Given the description of an element on the screen output the (x, y) to click on. 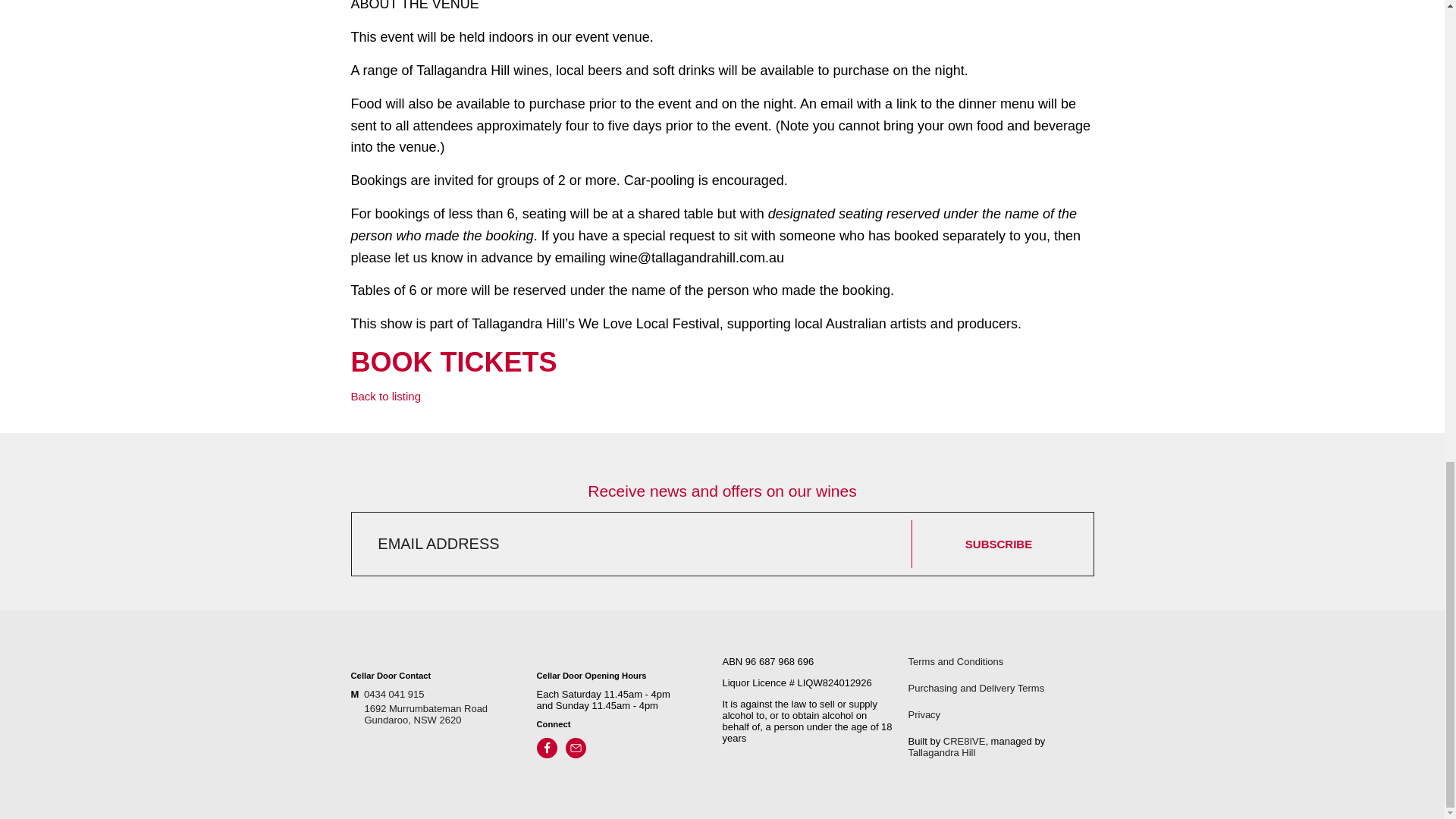
BOOK TICKETS (453, 361)
Tallagandra Hill (941, 752)
Terms and Conditions (956, 661)
CRE8IVE (964, 740)
Privacy (924, 714)
Back to listing (385, 395)
SUBSCRIBE (998, 544)
Purchasing and Delivery Terms (976, 687)
0434 041 915 (442, 713)
